Given the description of an element on the screen output the (x, y) to click on. 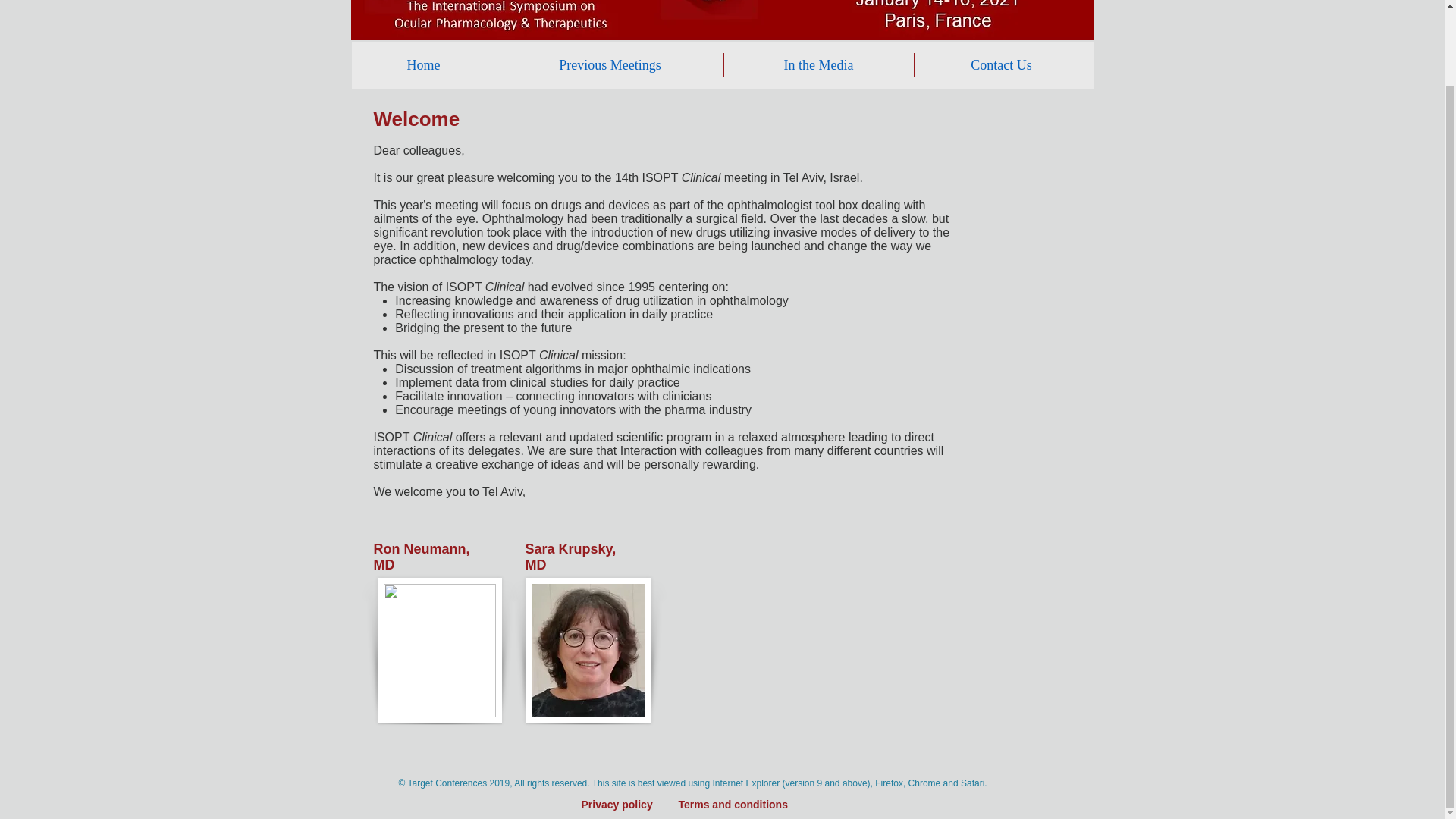
Privacy policy (616, 720)
Contact Us (1001, 64)
Terms and conditions (732, 720)
In the Media (817, 64)
Previous Meetings (610, 64)
Home (423, 64)
